Given the description of an element on the screen output the (x, y) to click on. 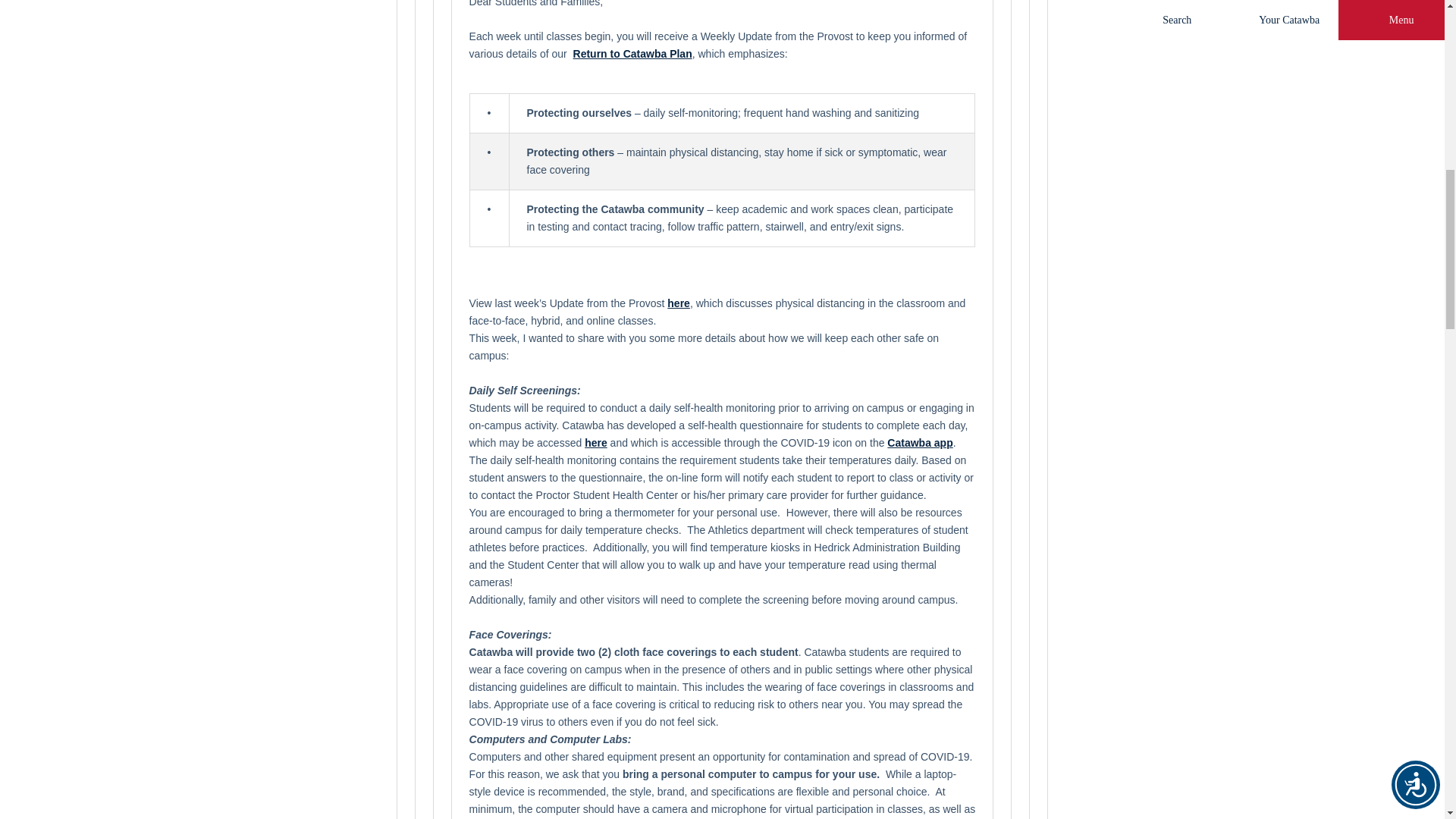
Return to Catawba Plan (633, 53)
here (678, 303)
here (596, 442)
Catawba app (919, 442)
